Given the description of an element on the screen output the (x, y) to click on. 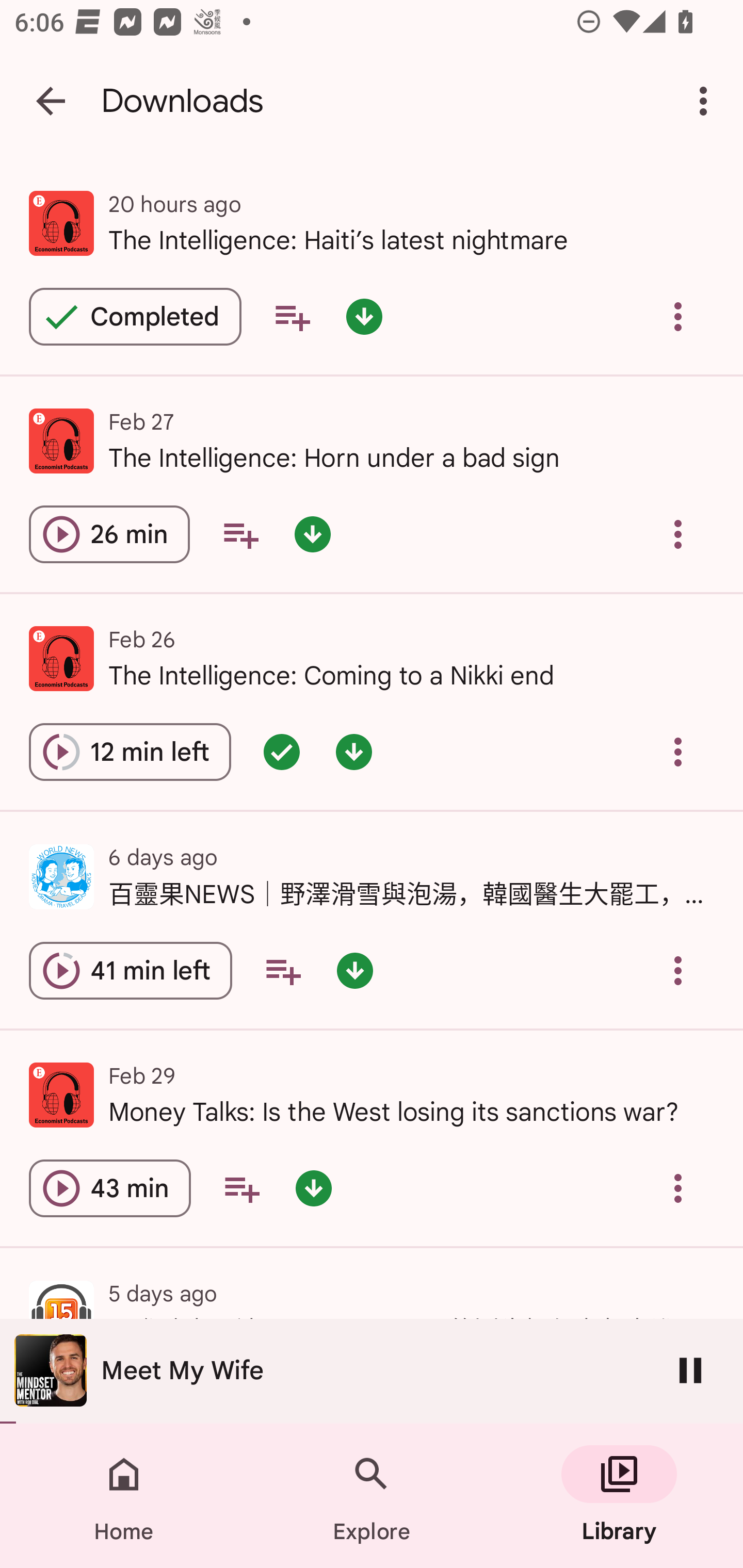
Navigate up (50, 101)
More options (706, 101)
Add to your queue (291, 316)
Episode downloaded - double tap for options (364, 316)
Overflow menu (677, 316)
Add to your queue (240, 533)
Episode downloaded - double tap for options (312, 533)
Overflow menu (677, 533)
Episode queued - double tap for options (281, 751)
Episode downloaded - double tap for options (354, 751)
Overflow menu (677, 751)
Add to your queue (282, 970)
Episode downloaded - double tap for options (354, 970)
Overflow menu (677, 970)
Add to your queue (241, 1188)
Episode downloaded - double tap for options (313, 1188)
Overflow menu (677, 1188)
The Mindset Mentor Meet My Wife Pause 215.0 (371, 1370)
Pause (690, 1370)
Home (123, 1495)
Explore (371, 1495)
